Given the description of an element on the screen output the (x, y) to click on. 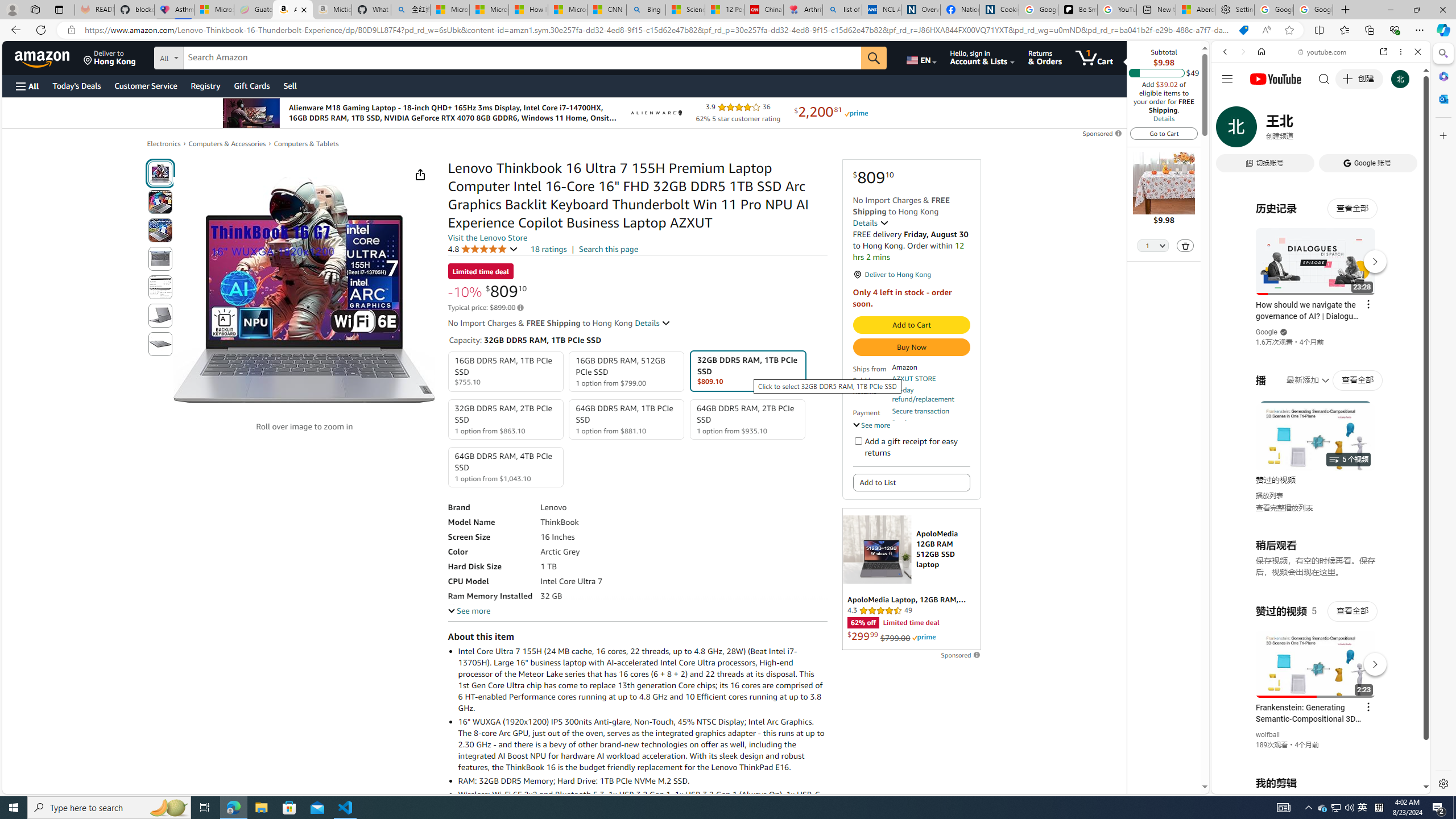
Open Menu (26, 86)
you (1315, 755)
AZXUT STORE (913, 378)
How I Got Rid of Microsoft Edge's Unnecessary Features (528, 9)
Share (419, 174)
Deliver to Hong Kong (109, 57)
Be Smart | creating Science videos | Patreon (1077, 9)
